Given the description of an element on the screen output the (x, y) to click on. 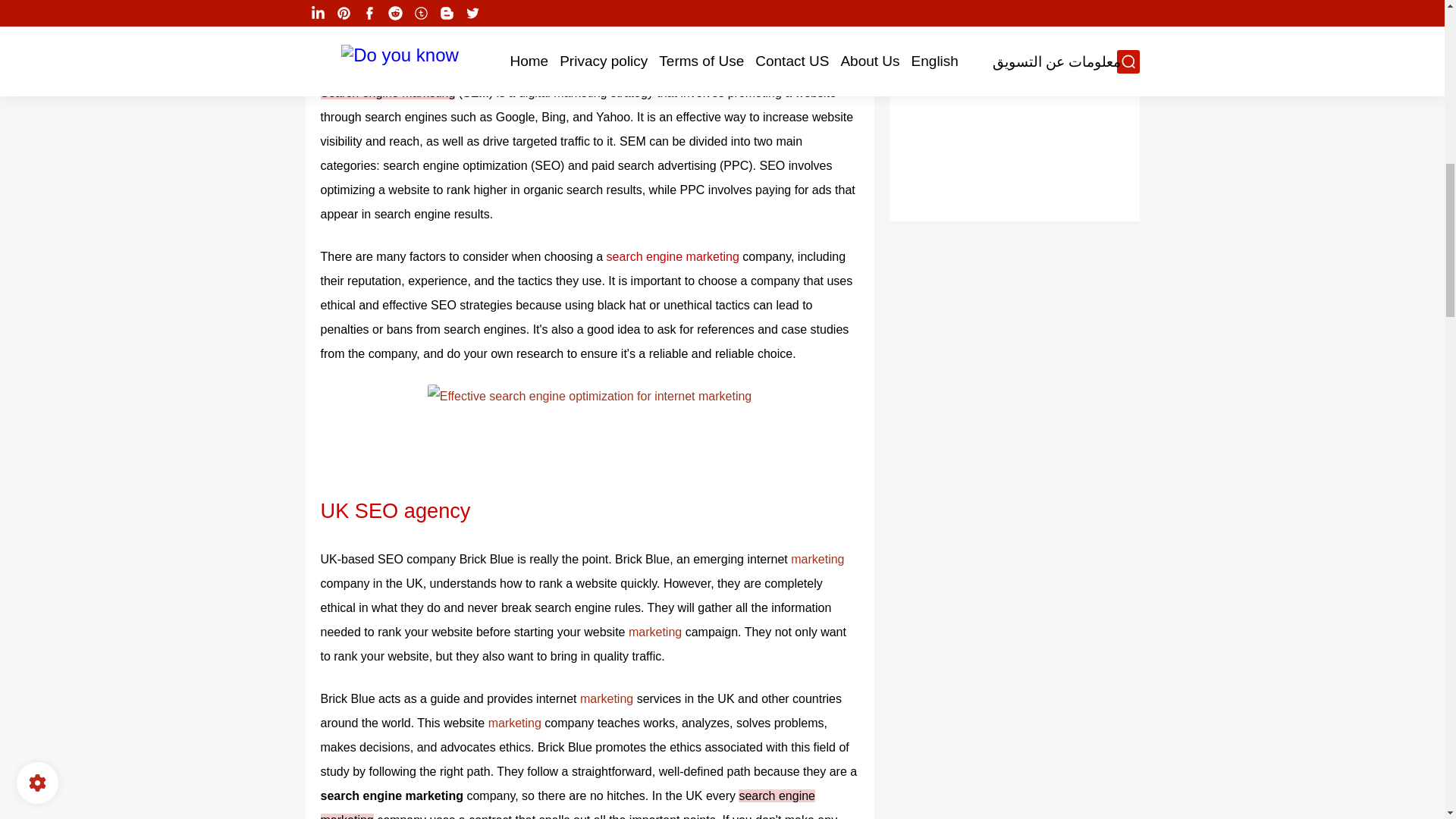
marketing (515, 722)
marketing (604, 25)
marketing (608, 698)
marketing (654, 631)
marketing (817, 558)
